Given the description of an element on the screen output the (x, y) to click on. 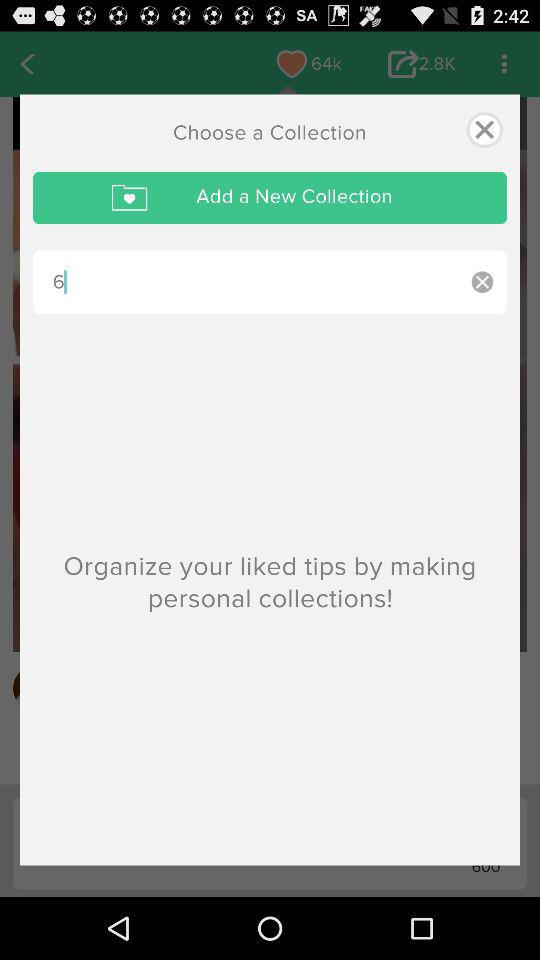
cancel or clear info typed button (482, 281)
